Given the description of an element on the screen output the (x, y) to click on. 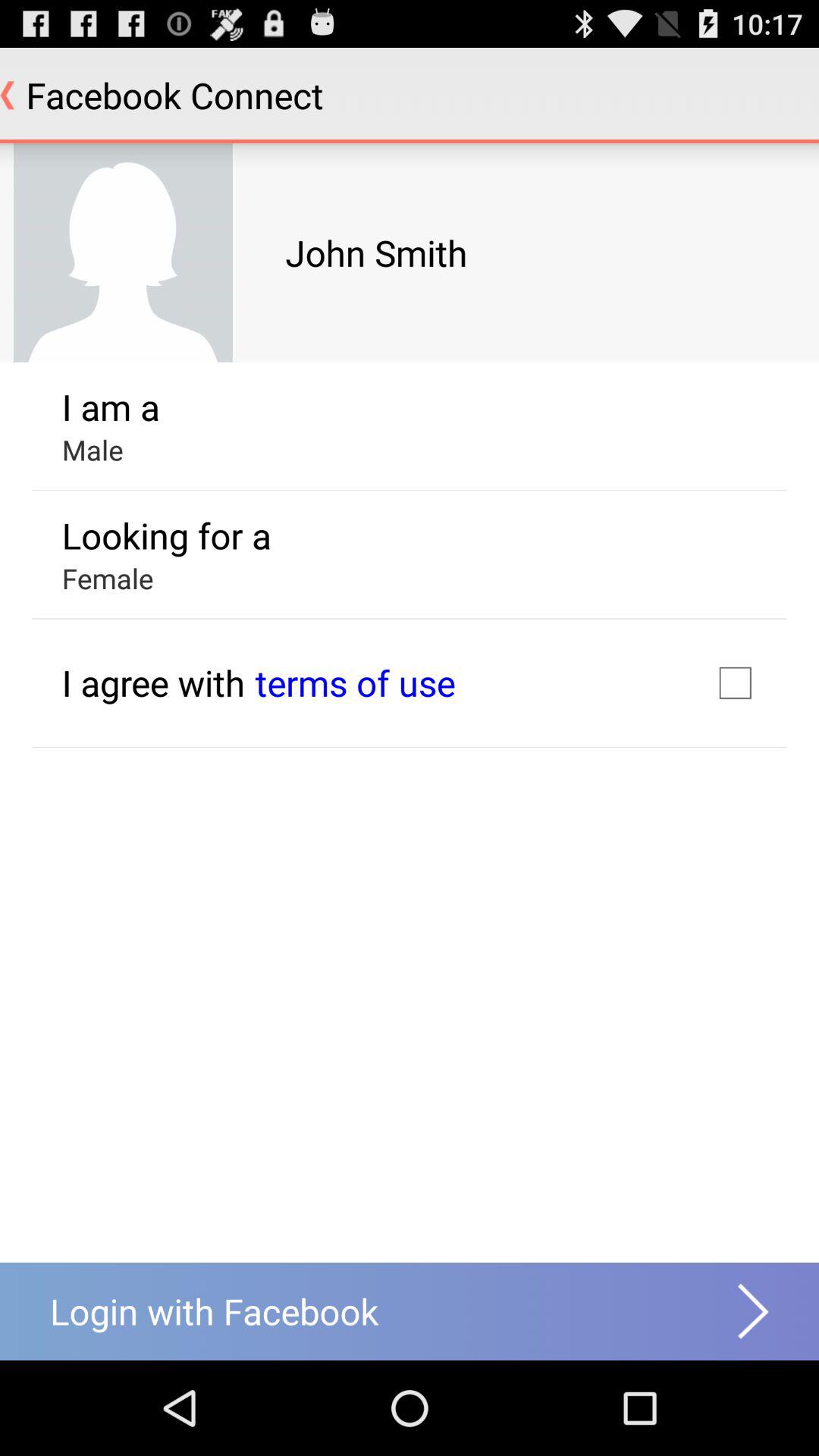
jump to male (92, 449)
